Given the description of an element on the screen output the (x, y) to click on. 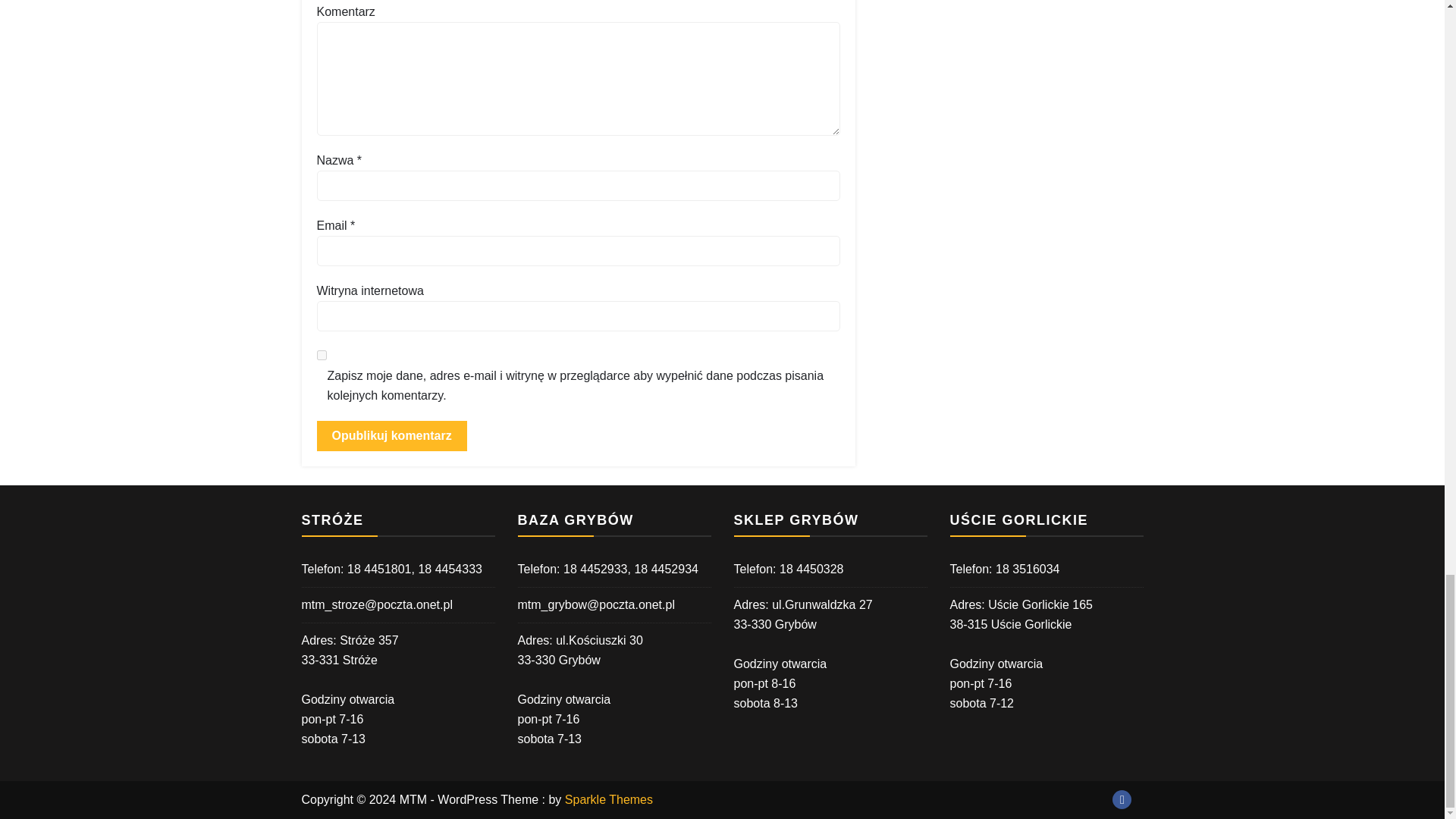
Opublikuj komentarz (392, 435)
yes (321, 355)
Opublikuj komentarz (392, 435)
